Given the description of an element on the screen output the (x, y) to click on. 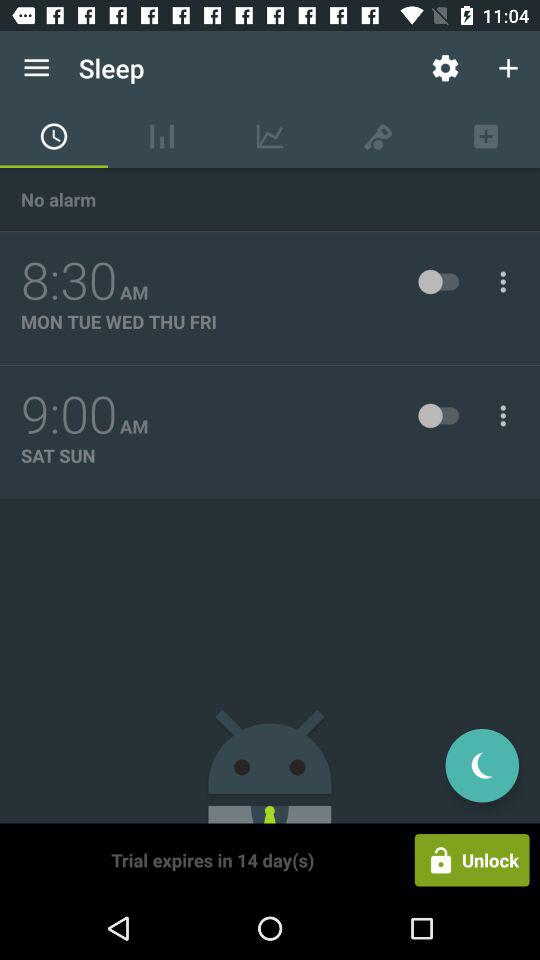
turn on the item to the left of am item (69, 415)
